Given the description of an element on the screen output the (x, y) to click on. 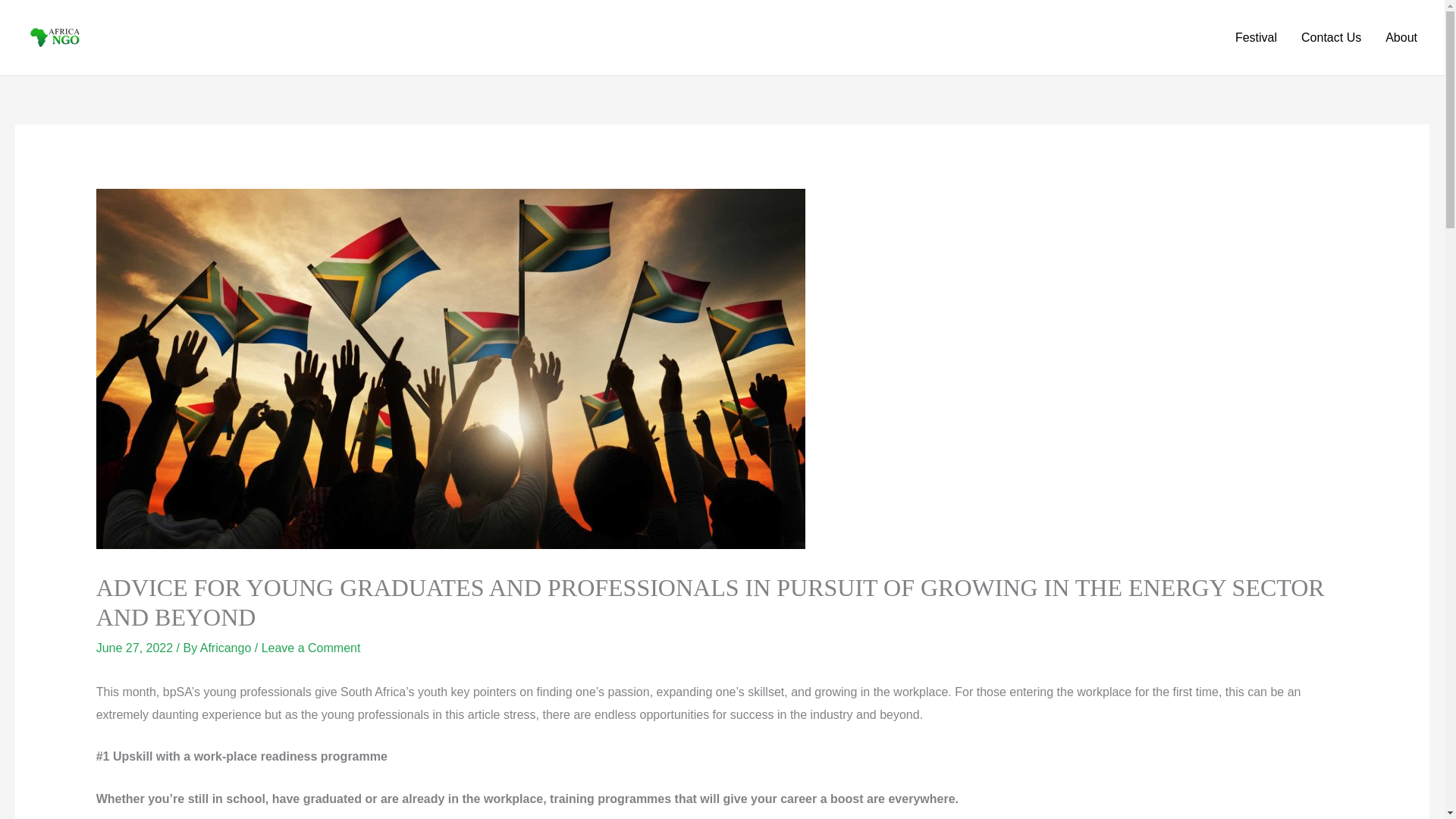
Contact Us (1330, 37)
Leave a Comment (311, 647)
About (1401, 37)
View all posts by Africango (227, 647)
Festival (1255, 37)
Africango (227, 647)
